Given the description of an element on the screen output the (x, y) to click on. 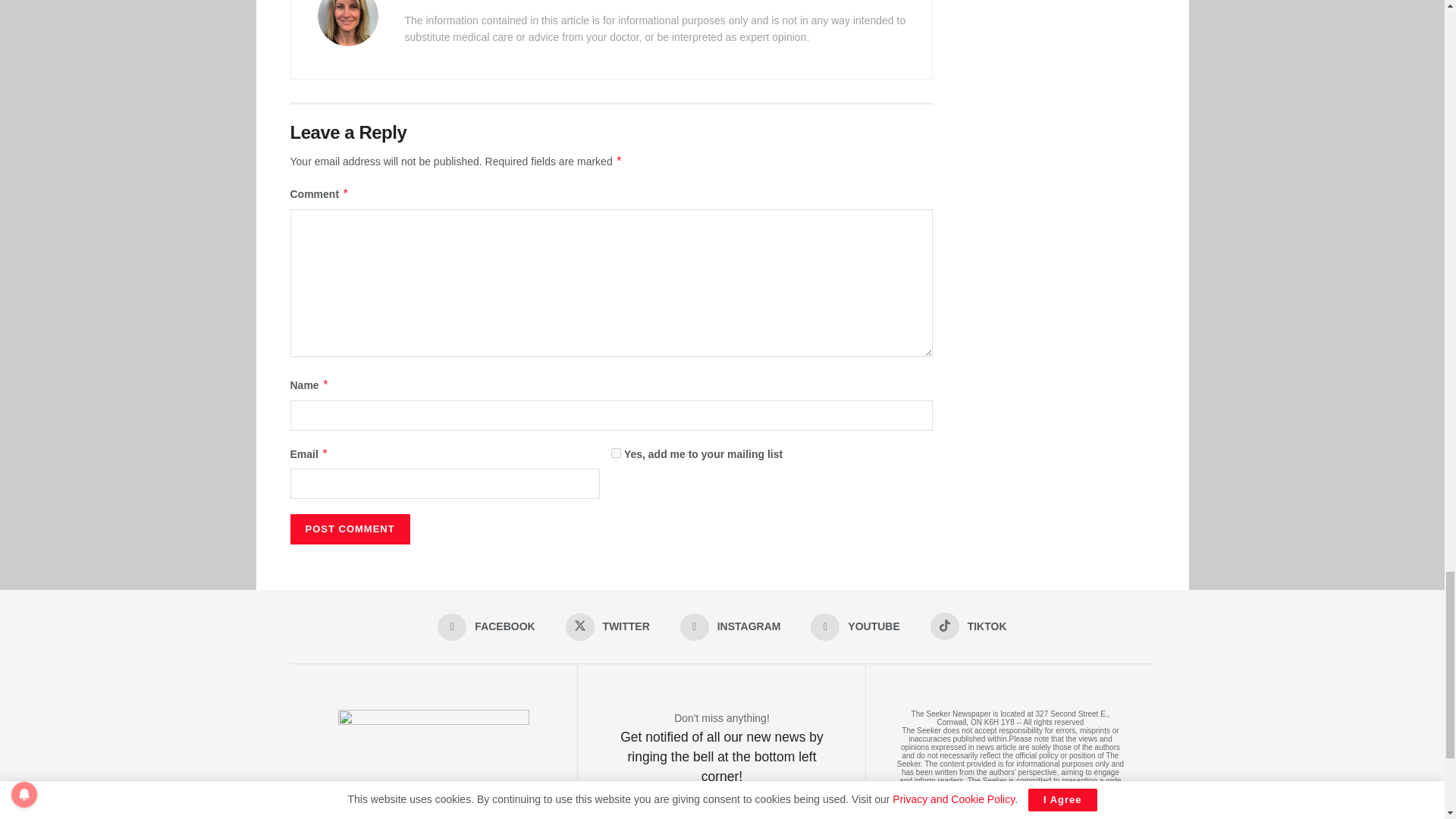
Post Comment (349, 529)
1 (616, 452)
